Given the description of an element on the screen output the (x, y) to click on. 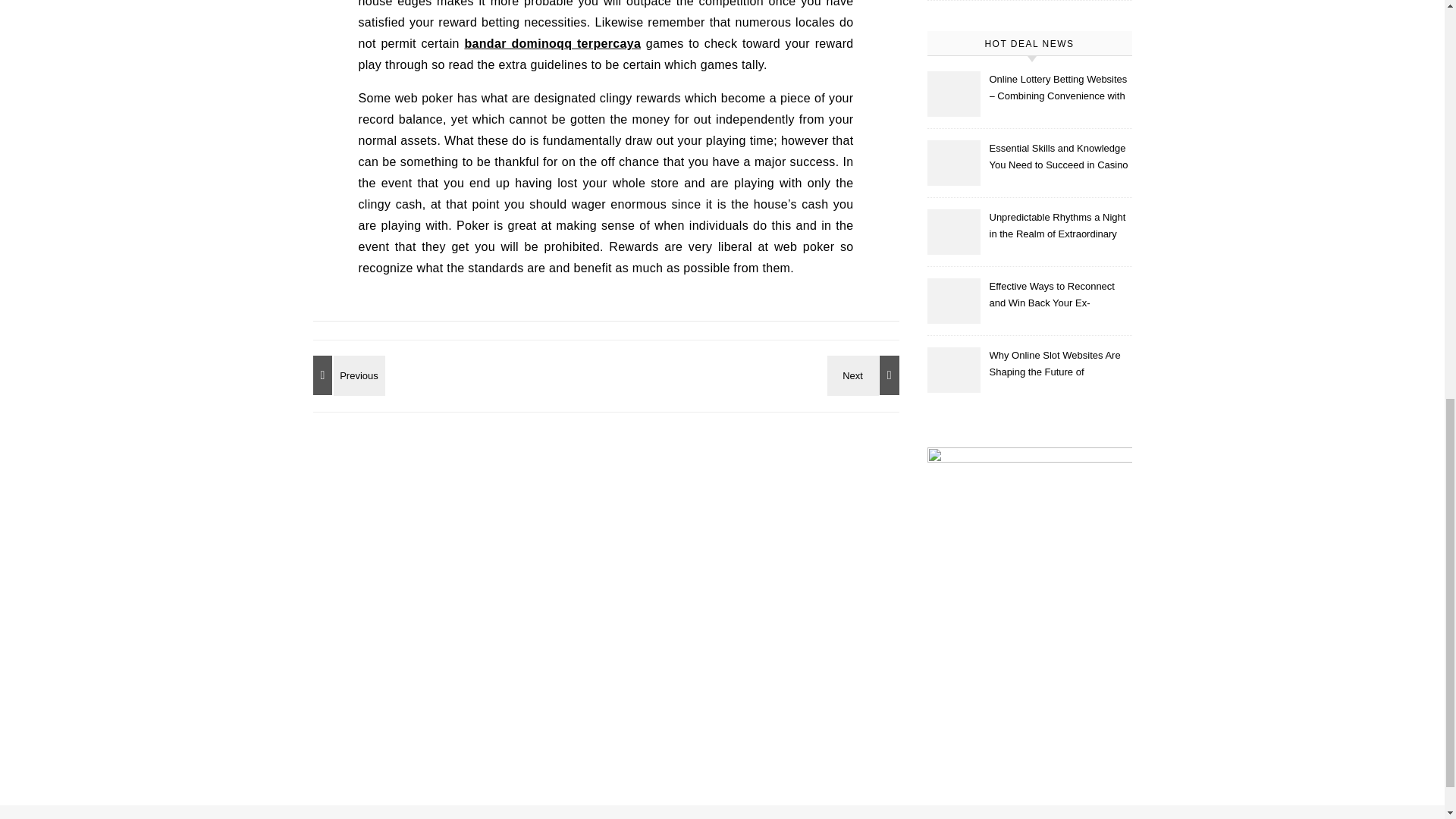
What Are the Different Types of Escorts in Liverpool? (865, 374)
bandar dominoqq terpercaya (552, 42)
